Given the description of an element on the screen output the (x, y) to click on. 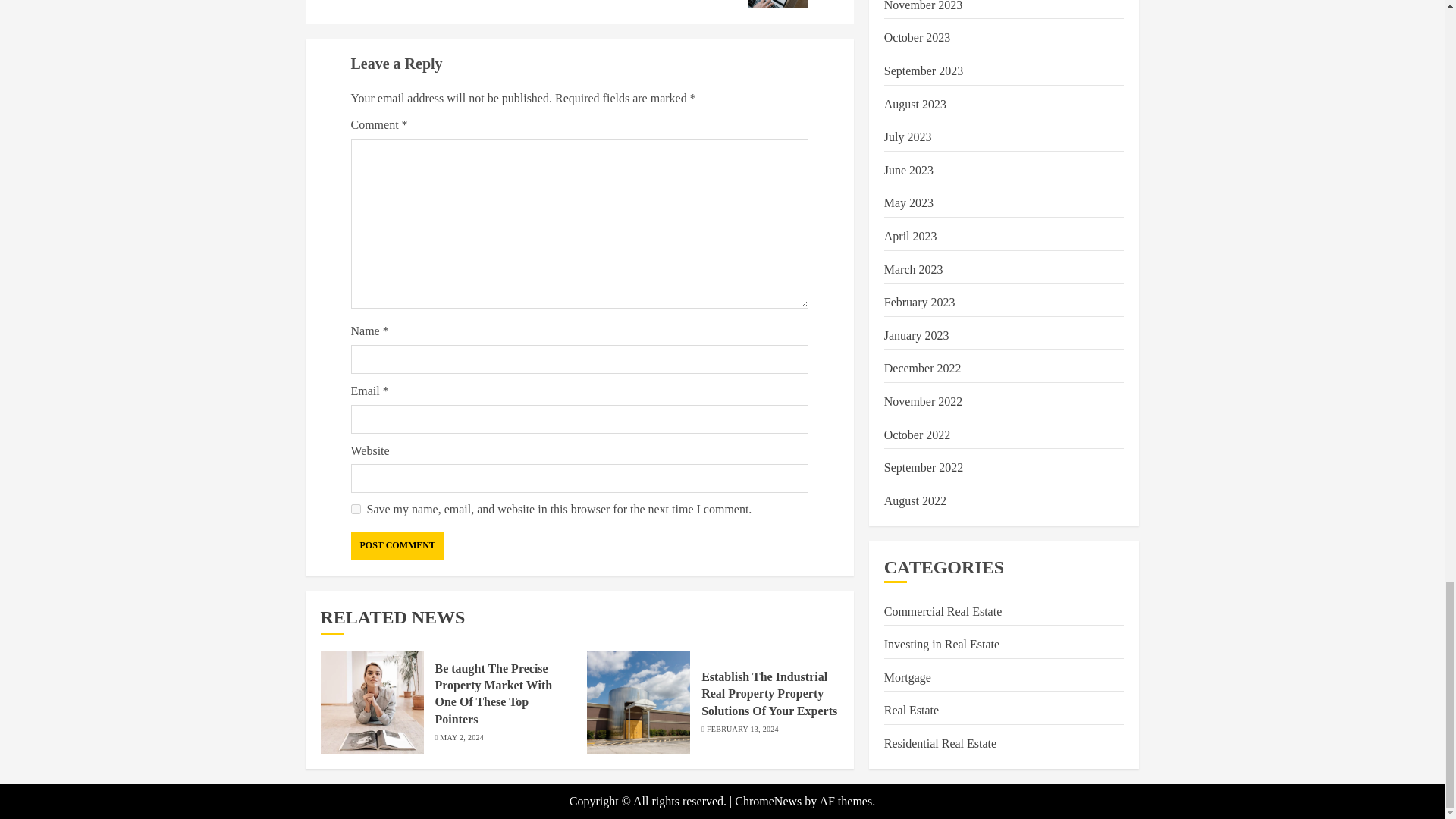
Post Comment (397, 545)
yes (693, 4)
Post Comment (354, 509)
